Given the description of an element on the screen output the (x, y) to click on. 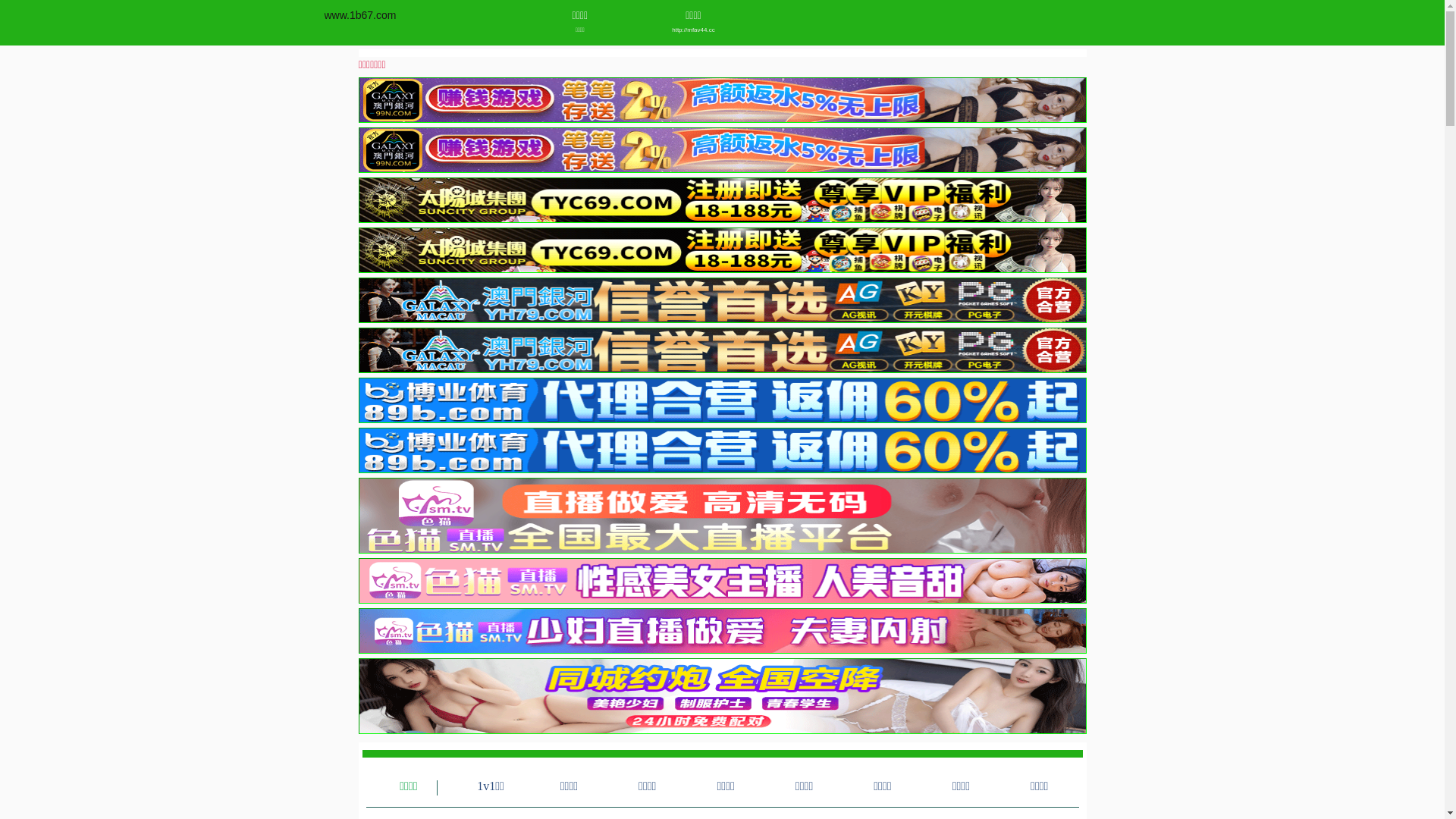
www.1b67.com Element type: text (360, 15)
http://mfav44.cc Element type: text (693, 29)
